Given the description of an element on the screen output the (x, y) to click on. 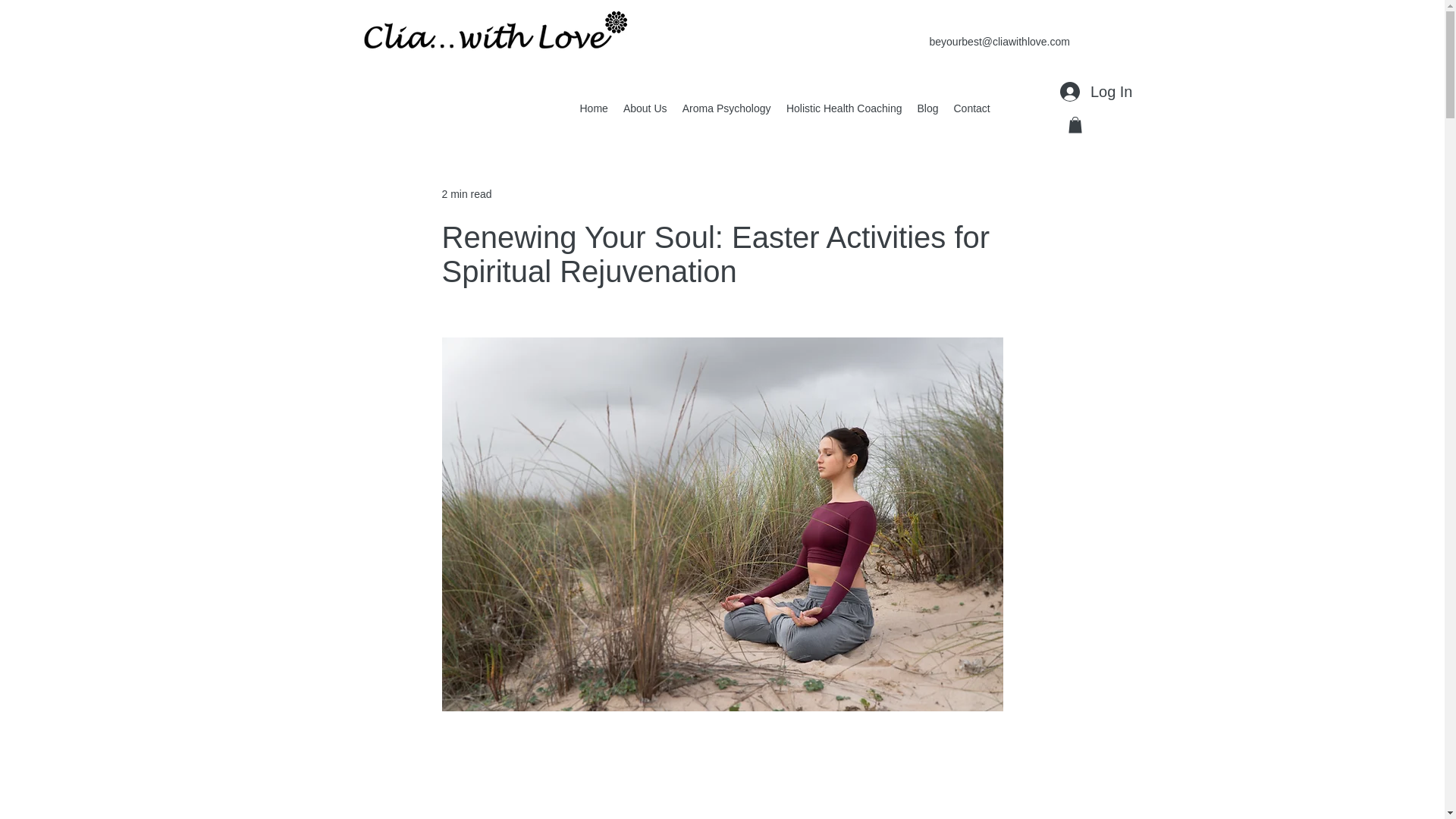
Log In (1095, 91)
2 min read (466, 193)
Contact (971, 108)
Blog (928, 108)
Home (593, 108)
Aroma Psychology (726, 108)
About Us (645, 108)
Holistic Health Coaching (842, 108)
